Given the description of an element on the screen output the (x, y) to click on. 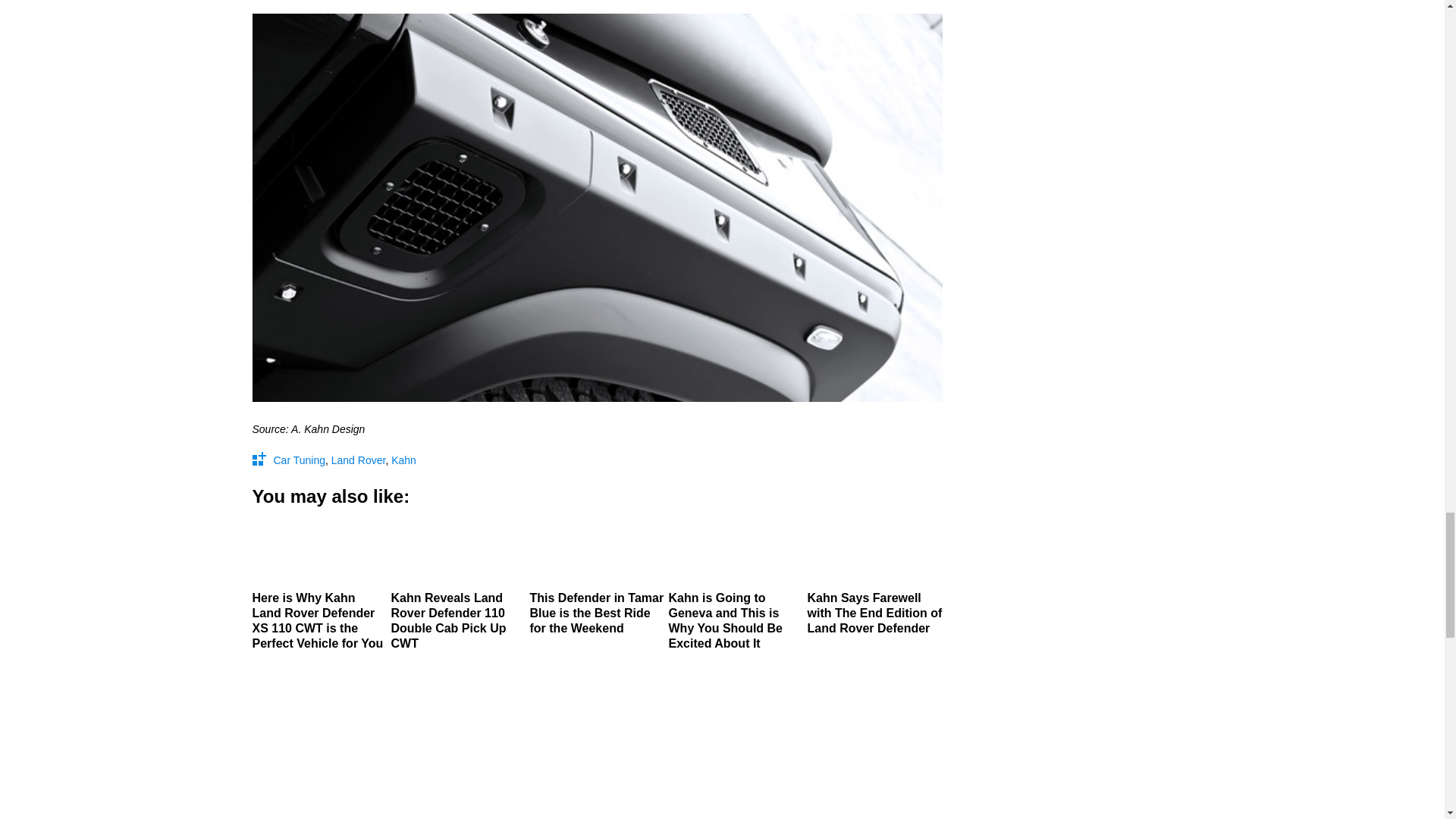
Car Tuning (298, 460)
Kahn (403, 460)
This Defender in Tamar Blue is the Best Ride for the Weekend (596, 577)
Land Rover (358, 460)
